Given the description of an element on the screen output the (x, y) to click on. 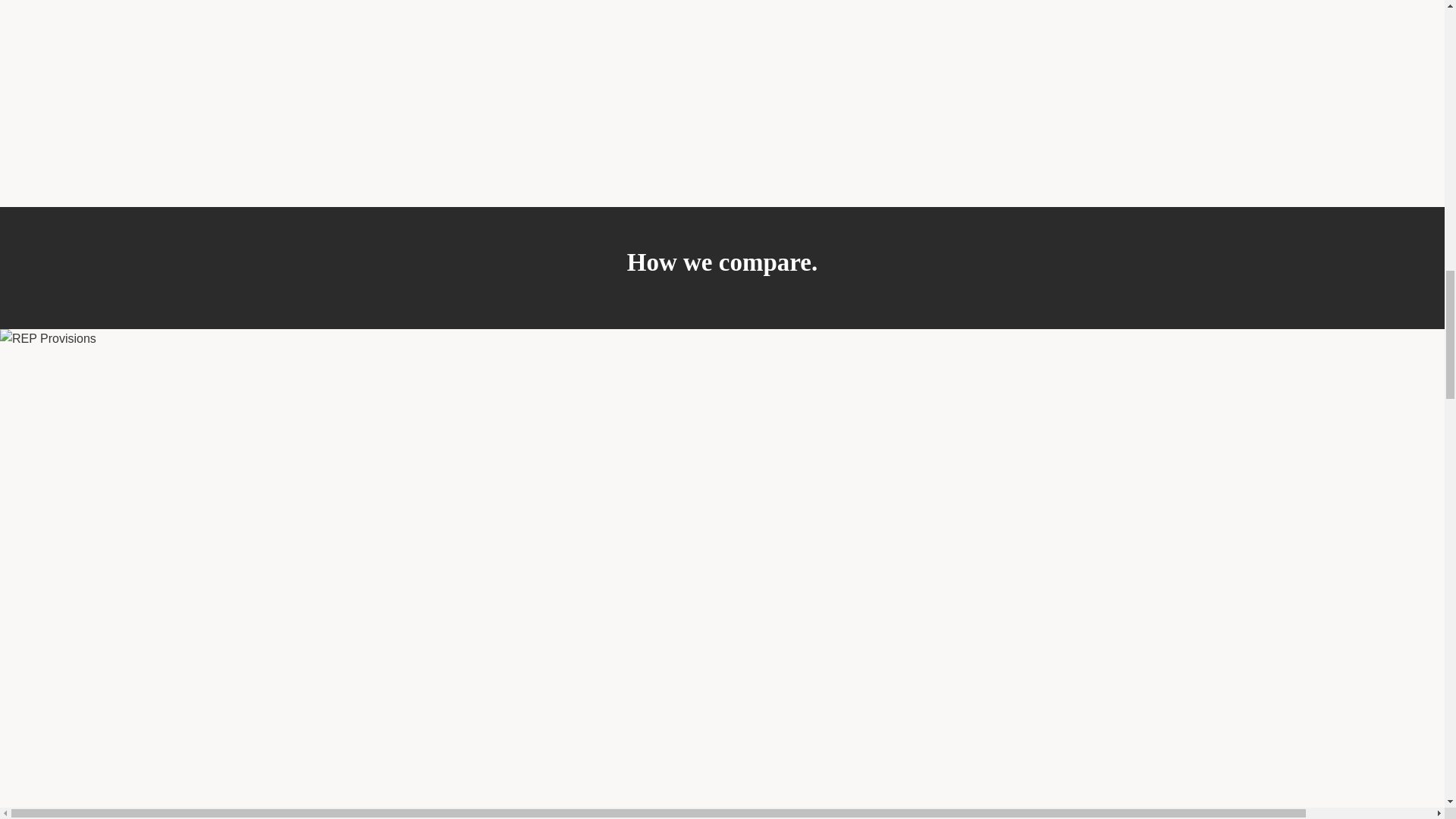
How we compare. (722, 267)
